Given the description of an element on the screen output the (x, y) to click on. 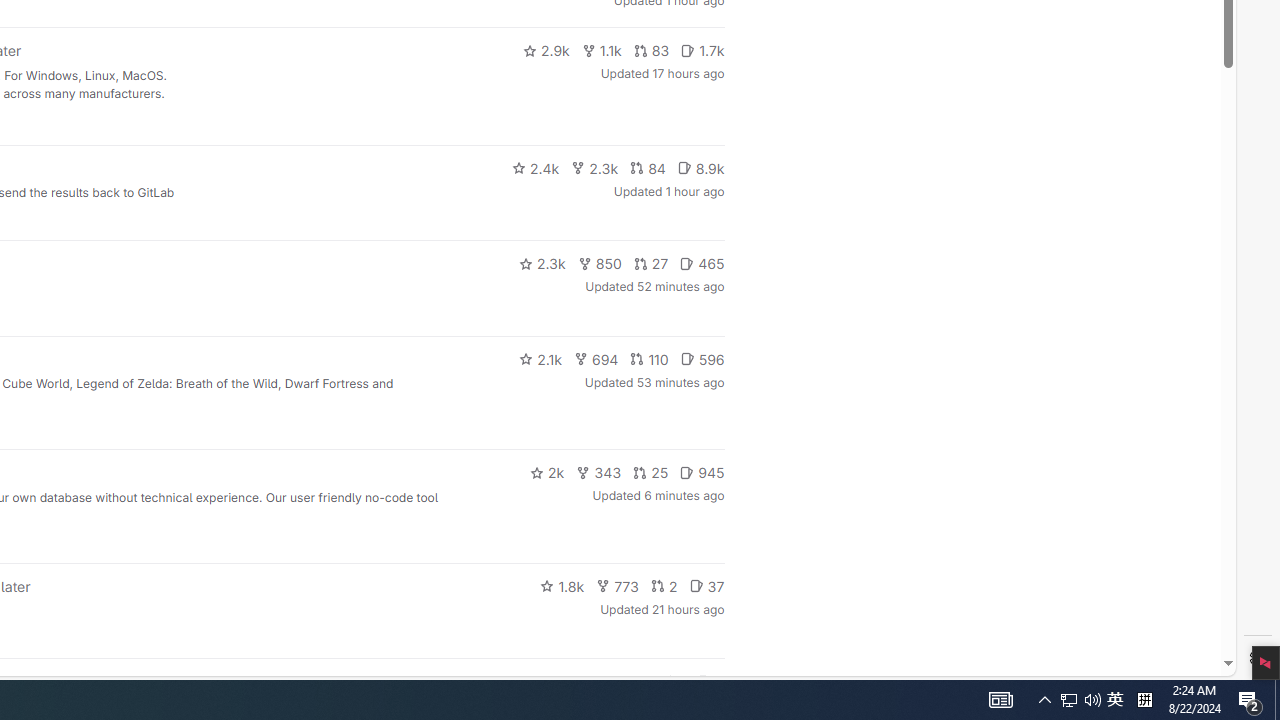
1.8k (562, 585)
27 (651, 263)
37 (706, 585)
945 (701, 472)
773 (618, 585)
2k (546, 472)
110 (649, 358)
1.7k (702, 50)
1.4k (573, 681)
596 (701, 358)
8.9k (700, 167)
143 (629, 681)
1 (673, 681)
1.1k (601, 50)
